Given the description of an element on the screen output the (x, y) to click on. 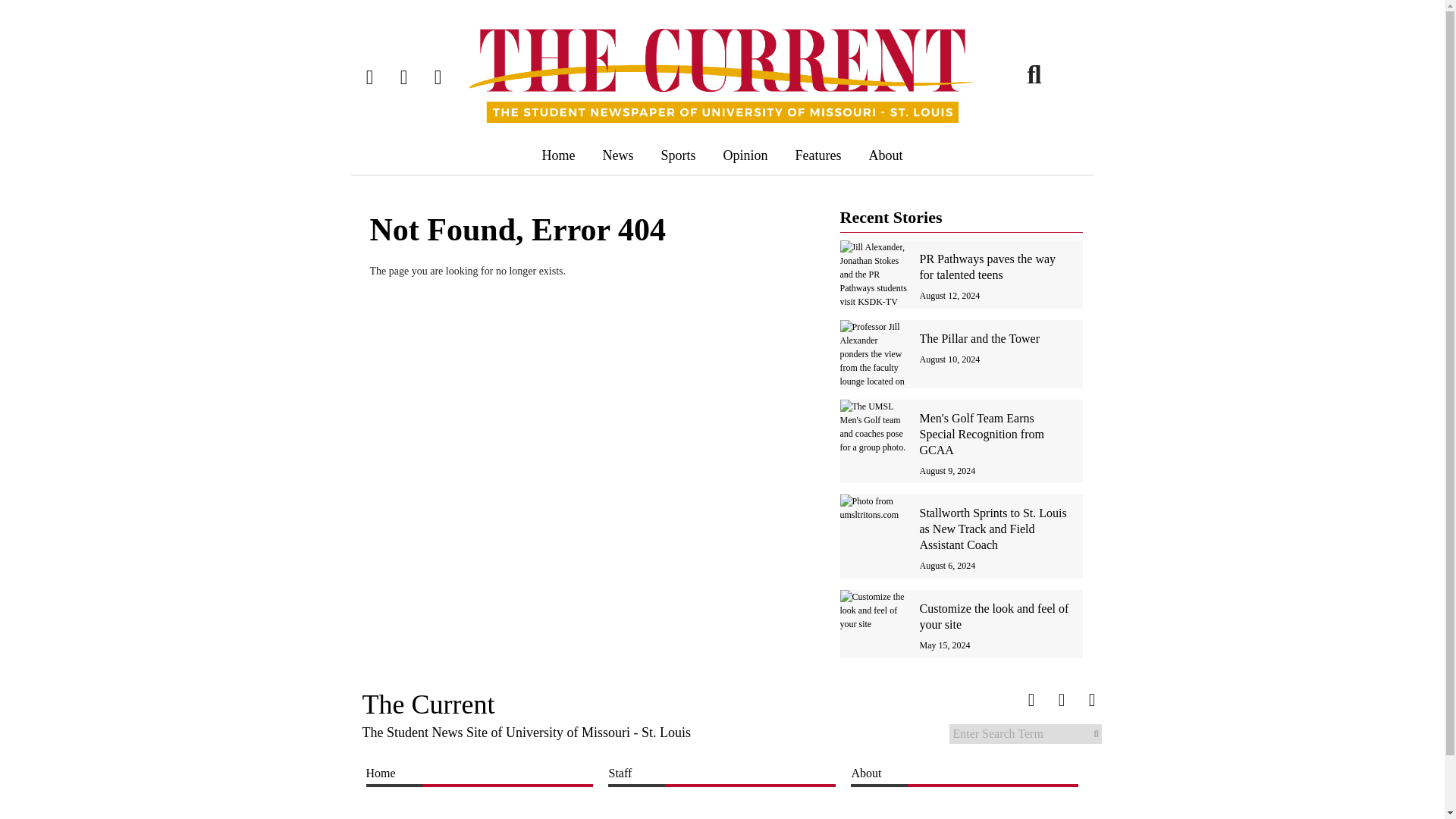
Sports (677, 155)
News (617, 155)
Opinion (745, 155)
Open Search Bar (1033, 73)
About (886, 155)
Home (557, 155)
Features (818, 155)
